Given the description of an element on the screen output the (x, y) to click on. 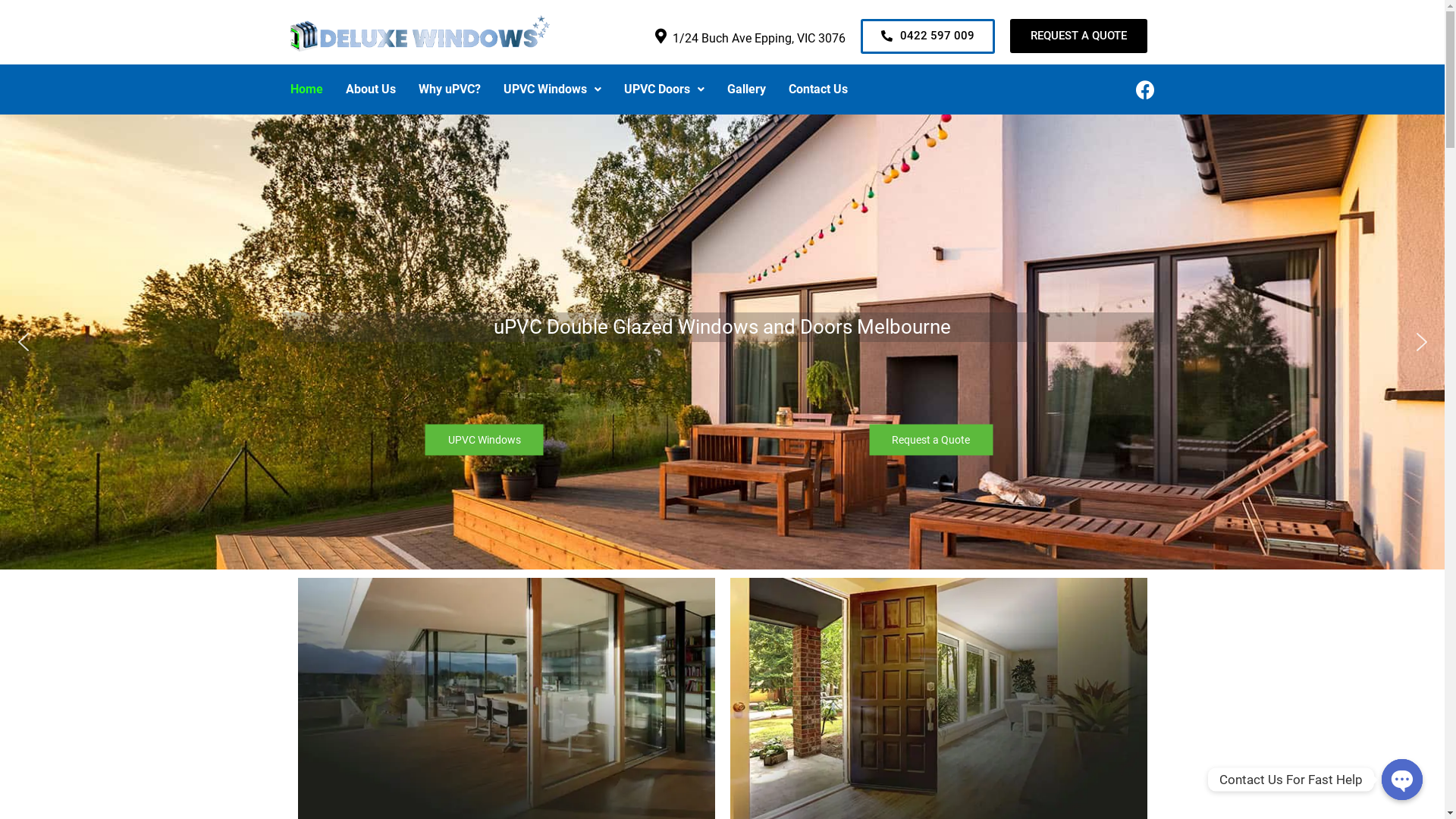
Home Element type: text (306, 89)
About Us Element type: text (369, 89)
0422 597 009 Element type: text (926, 35)
UPVC Windows Element type: text (483, 439)
REQUEST A QUOTE Element type: text (1078, 35)
1/24 Buch Ave Epping, VIC 3076 Element type: text (757, 38)
Contact Us Element type: text (817, 89)
UPVC Doors Element type: text (663, 89)
Why uPVC? Element type: text (448, 89)
Request a Quote Element type: text (930, 439)
Gallery Element type: text (746, 89)
UPVC Windows Element type: text (551, 89)
